Given the description of an element on the screen output the (x, y) to click on. 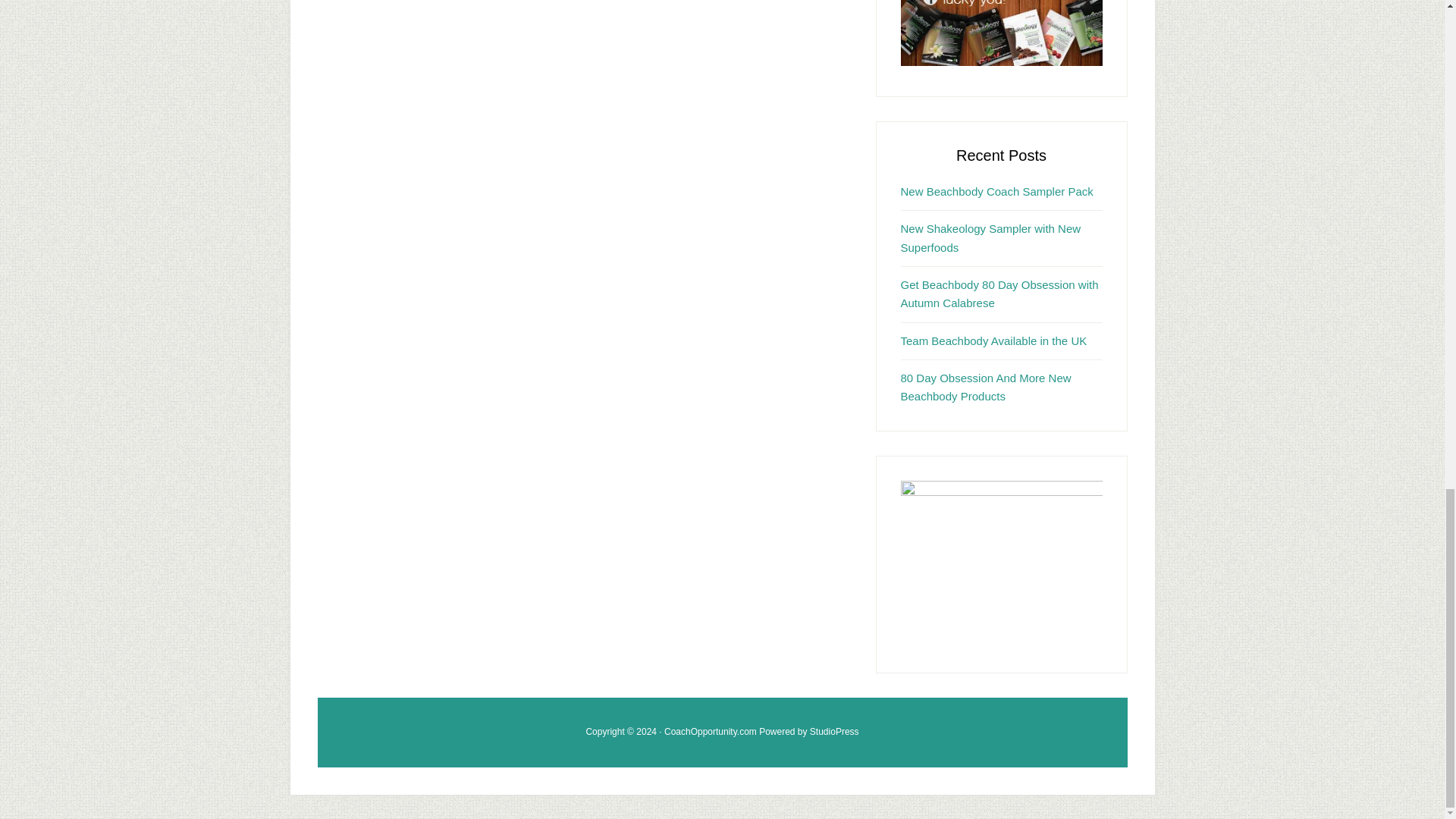
New Shakeology Sampler with New Superfoods (991, 237)
New Beachbody Coach Sampler Pack (997, 191)
Team Beachbody Available in the UK (994, 340)
StudioPress (834, 731)
Get Beachbody 80 Day Obsession with Autumn Calabrese (1000, 293)
80 Day Obsession And More New Beachbody Products (986, 386)
